Given the description of an element on the screen output the (x, y) to click on. 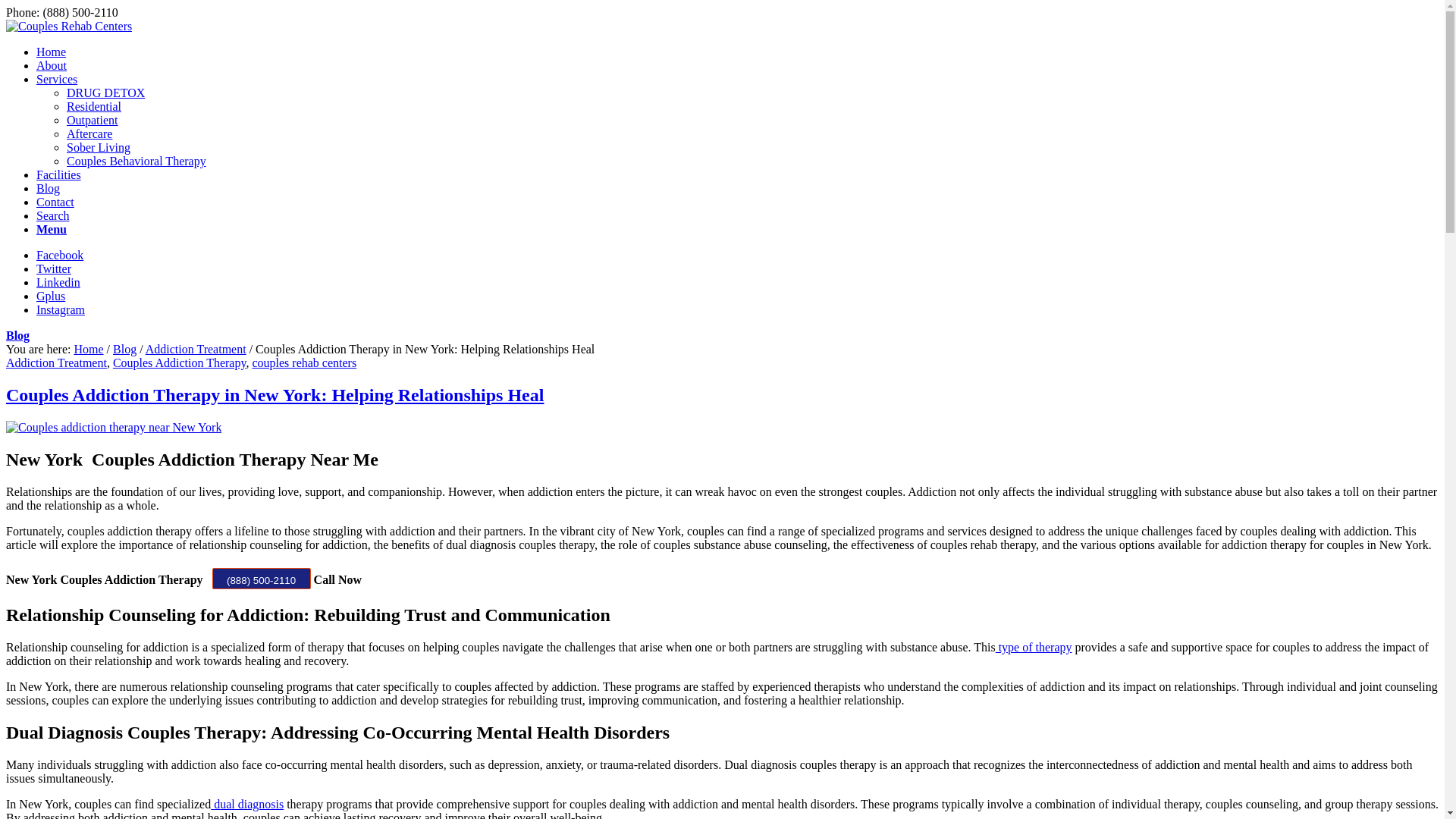
couples rehab centers (303, 362)
Contact (55, 201)
Addiction Treatment (195, 349)
Search (52, 215)
Couples Addiction Therapy (179, 362)
Services (56, 78)
Facebook (59, 254)
Permanent Link: Blog (17, 335)
DRUG DETOX (105, 92)
